Given the description of an element on the screen output the (x, y) to click on. 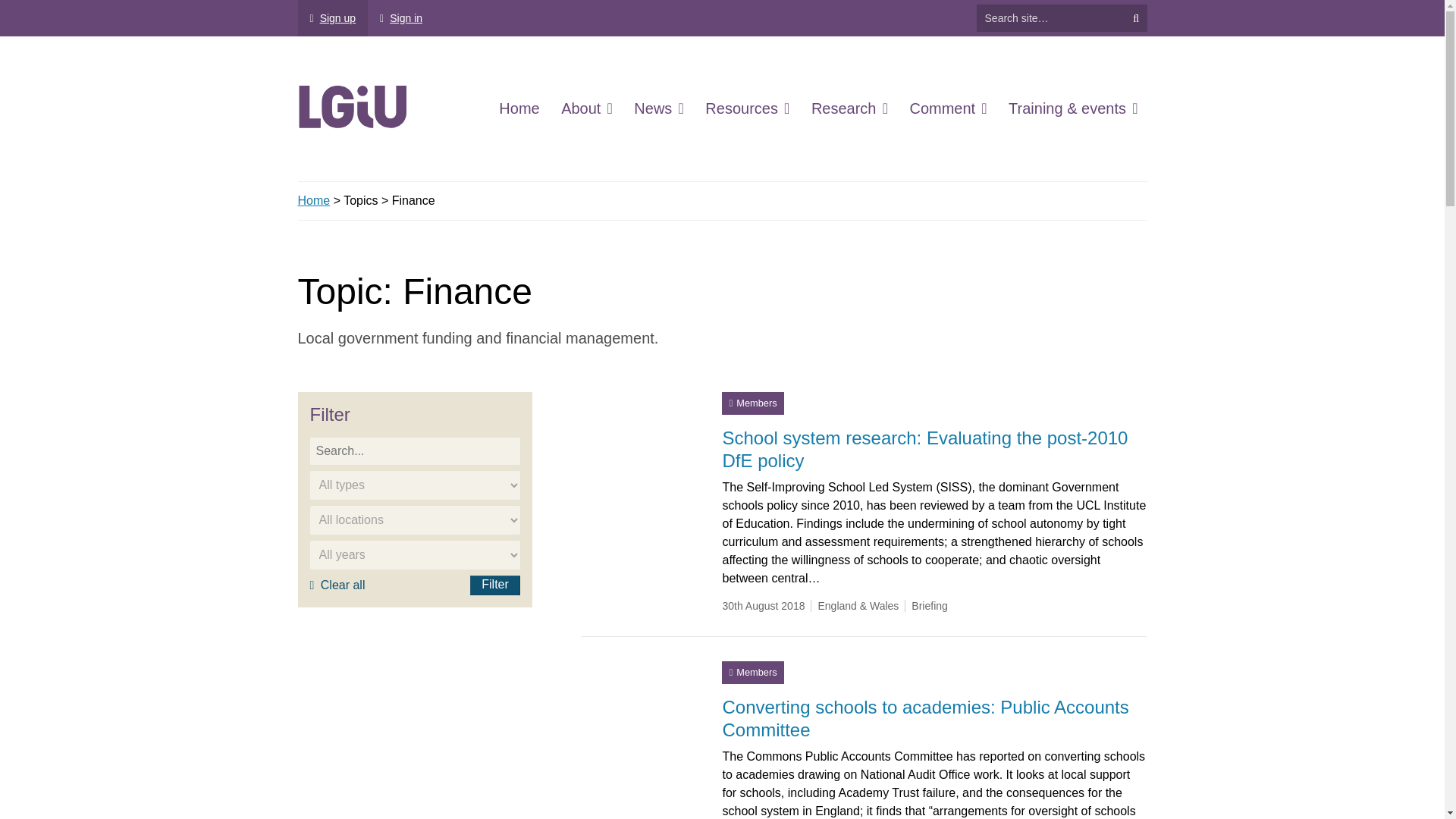
Research (849, 107)
News (658, 107)
Comment (947, 107)
Go to LGiU. (313, 200)
Home (518, 107)
Filter (494, 585)
School system research: Evaluating the post-2010 DfE policy (639, 450)
Converting schools to academies: Public Accounts Committee (639, 719)
About (586, 107)
Search for: (1050, 18)
Resources (746, 107)
Sign in (400, 18)
Sign up (332, 18)
